Given the description of an element on the screen output the (x, y) to click on. 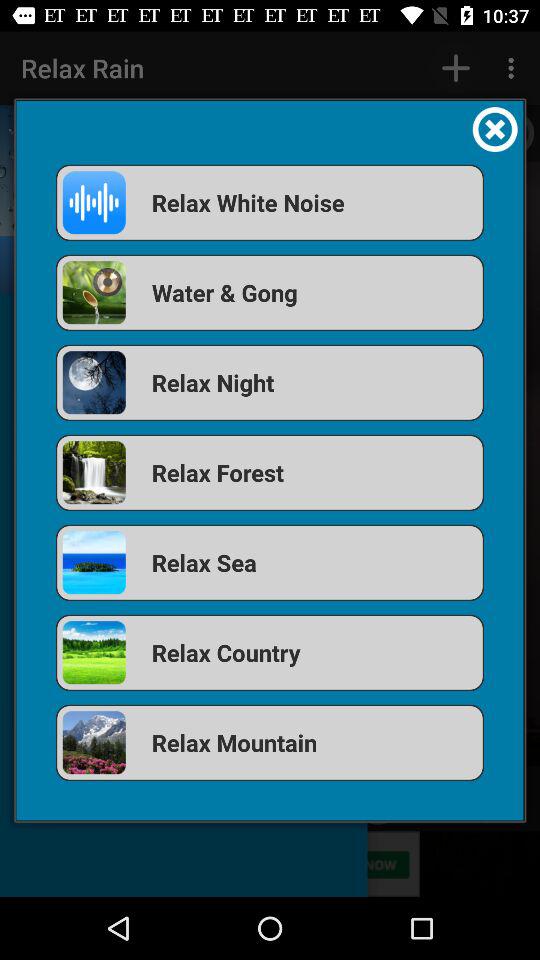
launch the item above relax night item (269, 292)
